Given the description of an element on the screen output the (x, y) to click on. 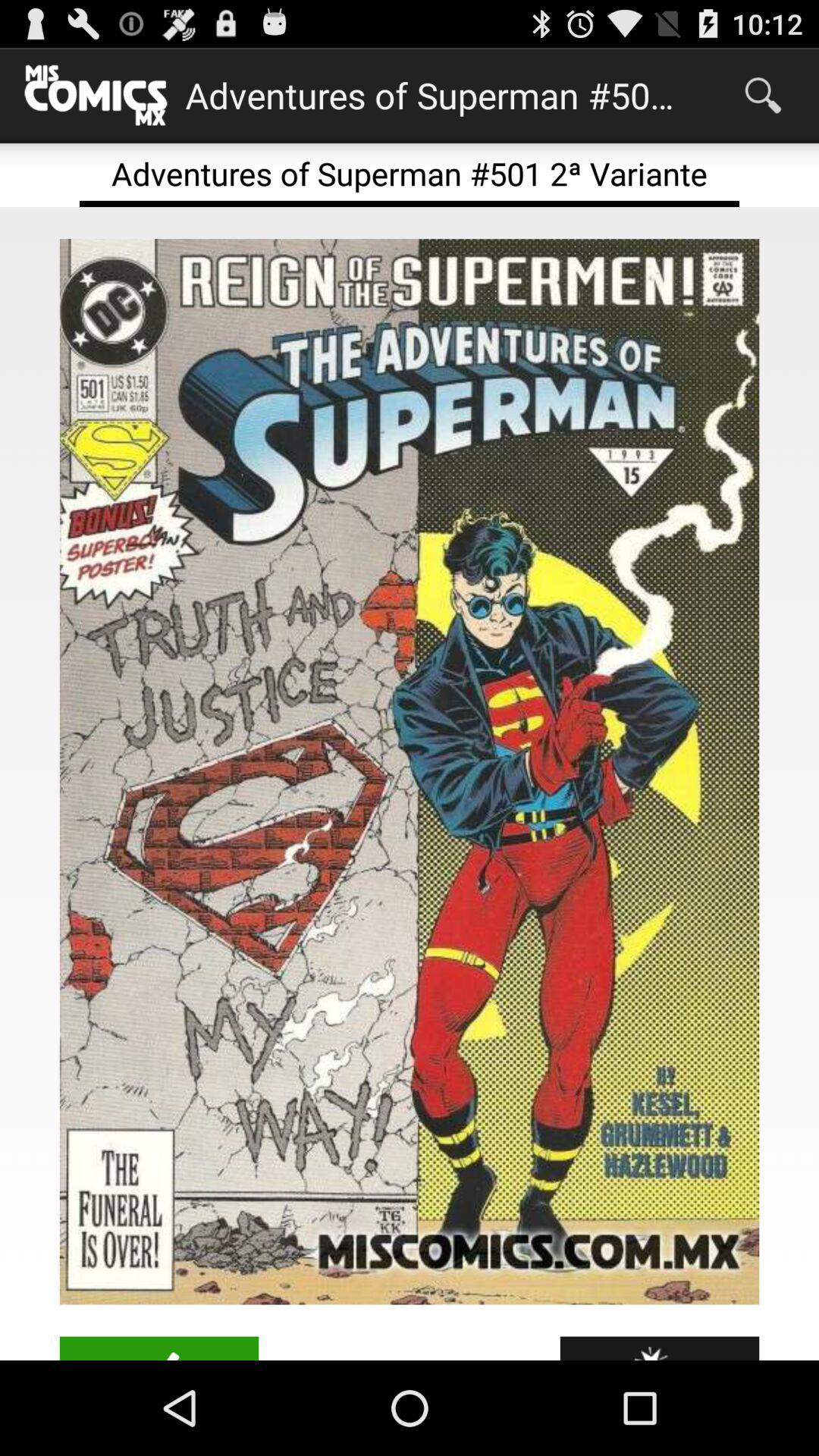
display screen (409, 771)
